Given the description of an element on the screen output the (x, y) to click on. 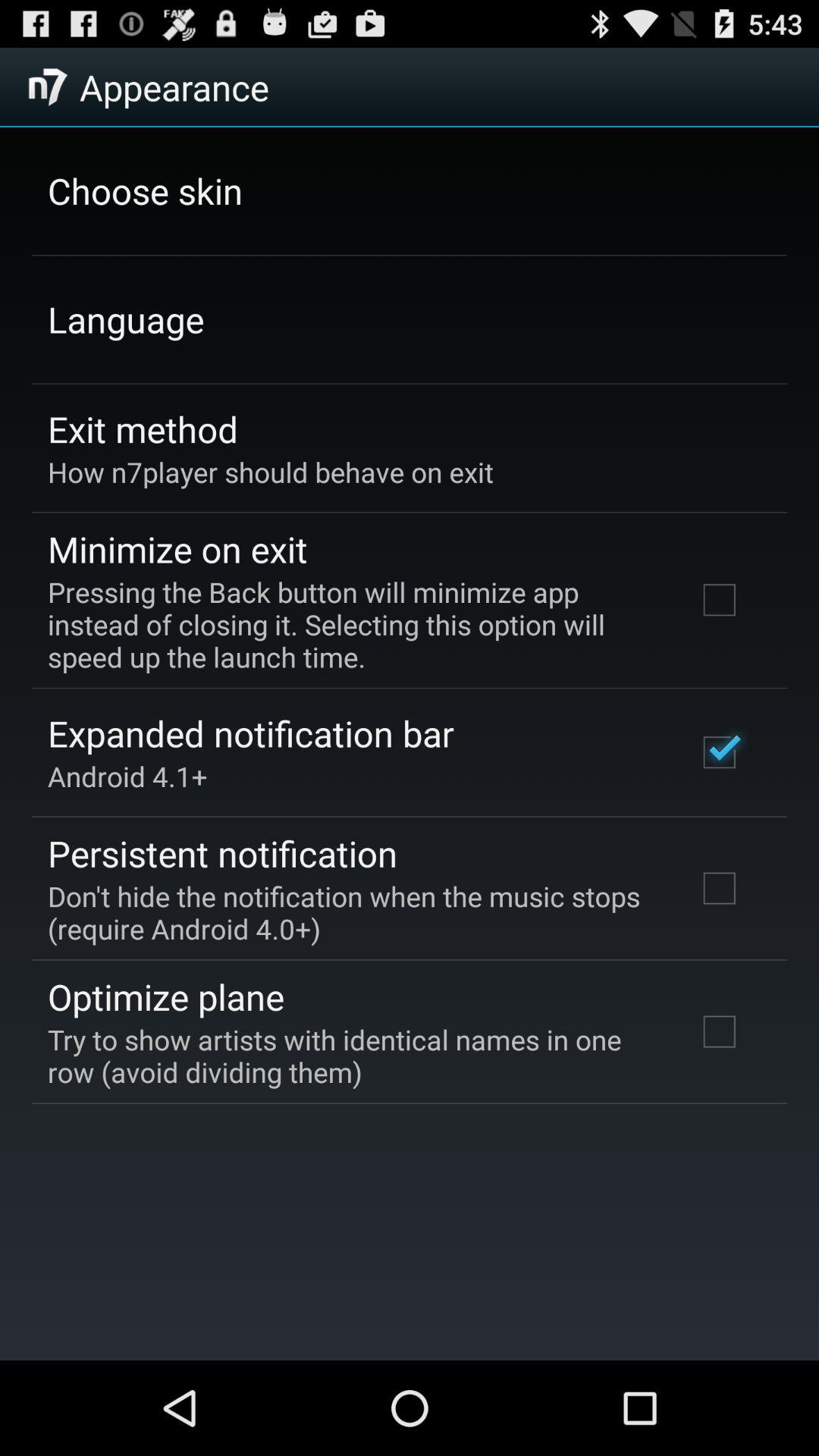
click the expanded notification bar (250, 733)
